Given the description of an element on the screen output the (x, y) to click on. 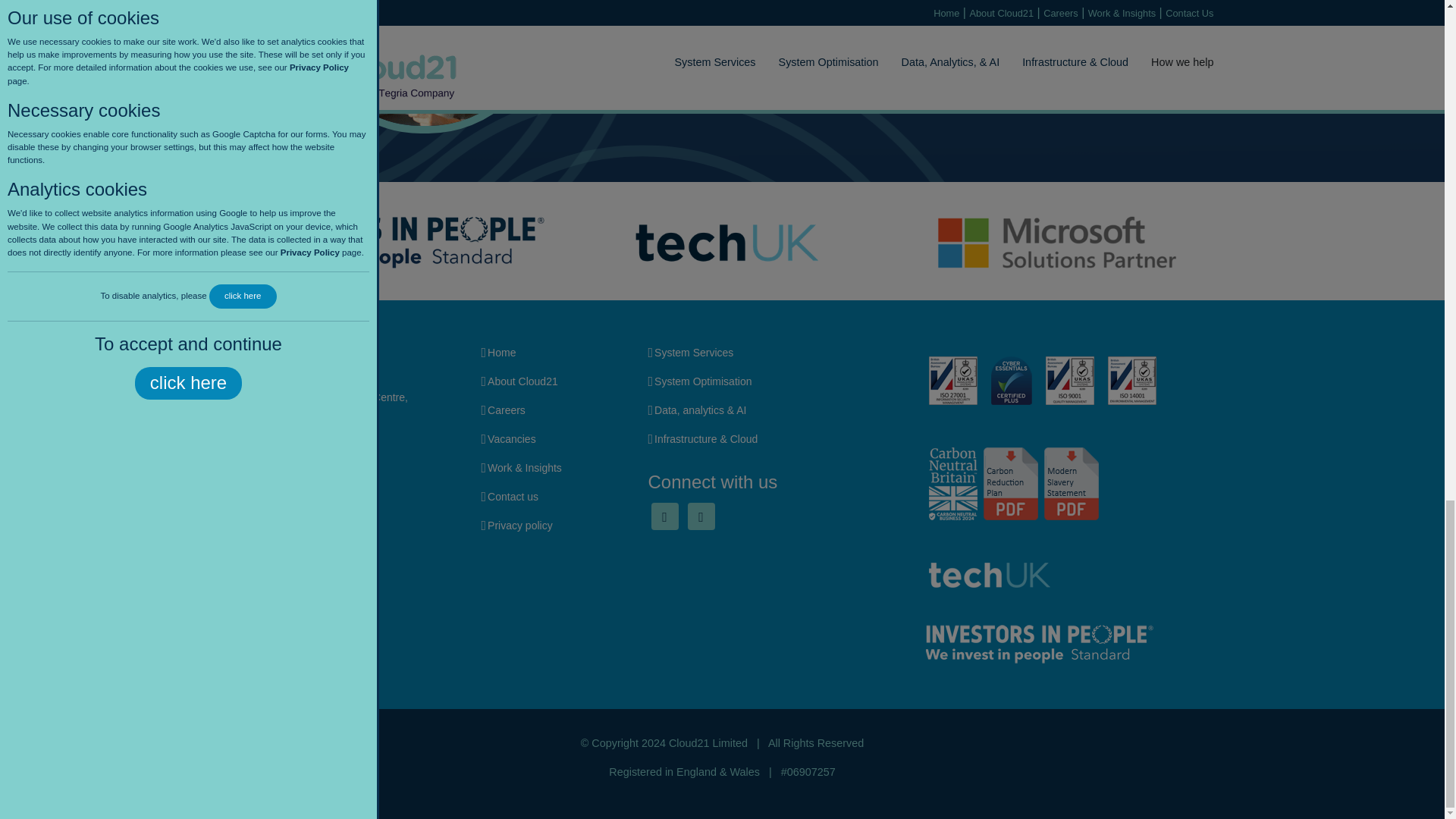
We have ISO27001 (952, 380)
Contact us (512, 496)
We have ISO9001 (1069, 380)
Investors In People (388, 242)
We have ISO14001 (1131, 380)
Tech UK (988, 575)
Careers (506, 409)
Microsoft Solutions Partner (1055, 242)
Download our plan (1070, 483)
Home (501, 352)
System Services (693, 352)
System Optimisation (702, 380)
Investors In People (1038, 643)
Carbon Neutral Britain (952, 483)
Download our plan (1009, 483)
